Given the description of an element on the screen output the (x, y) to click on. 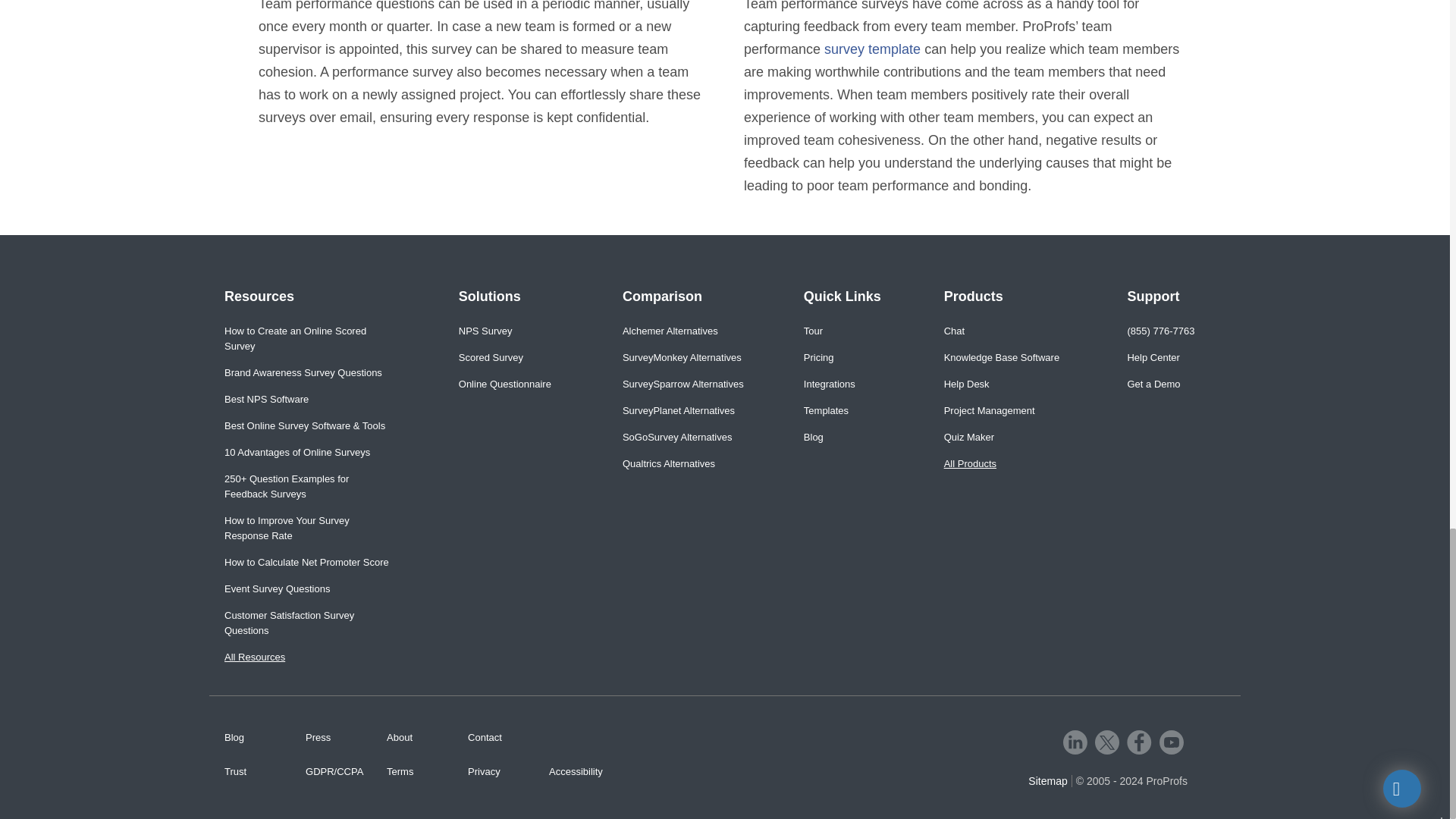
All Resources (307, 657)
10 Advantages of Online Surveys (307, 452)
Best NPS Software (307, 399)
Event Survey Questions (307, 589)
Customer Satisfaction Survey Questions (307, 623)
How to Create an Online Scored Survey (307, 338)
NPS Survey (504, 331)
Brand Awareness Survey Questions (307, 372)
How to Calculate Net Promoter Score (307, 562)
How to Improve Your Survey Response Rate (307, 528)
